Given the description of an element on the screen output the (x, y) to click on. 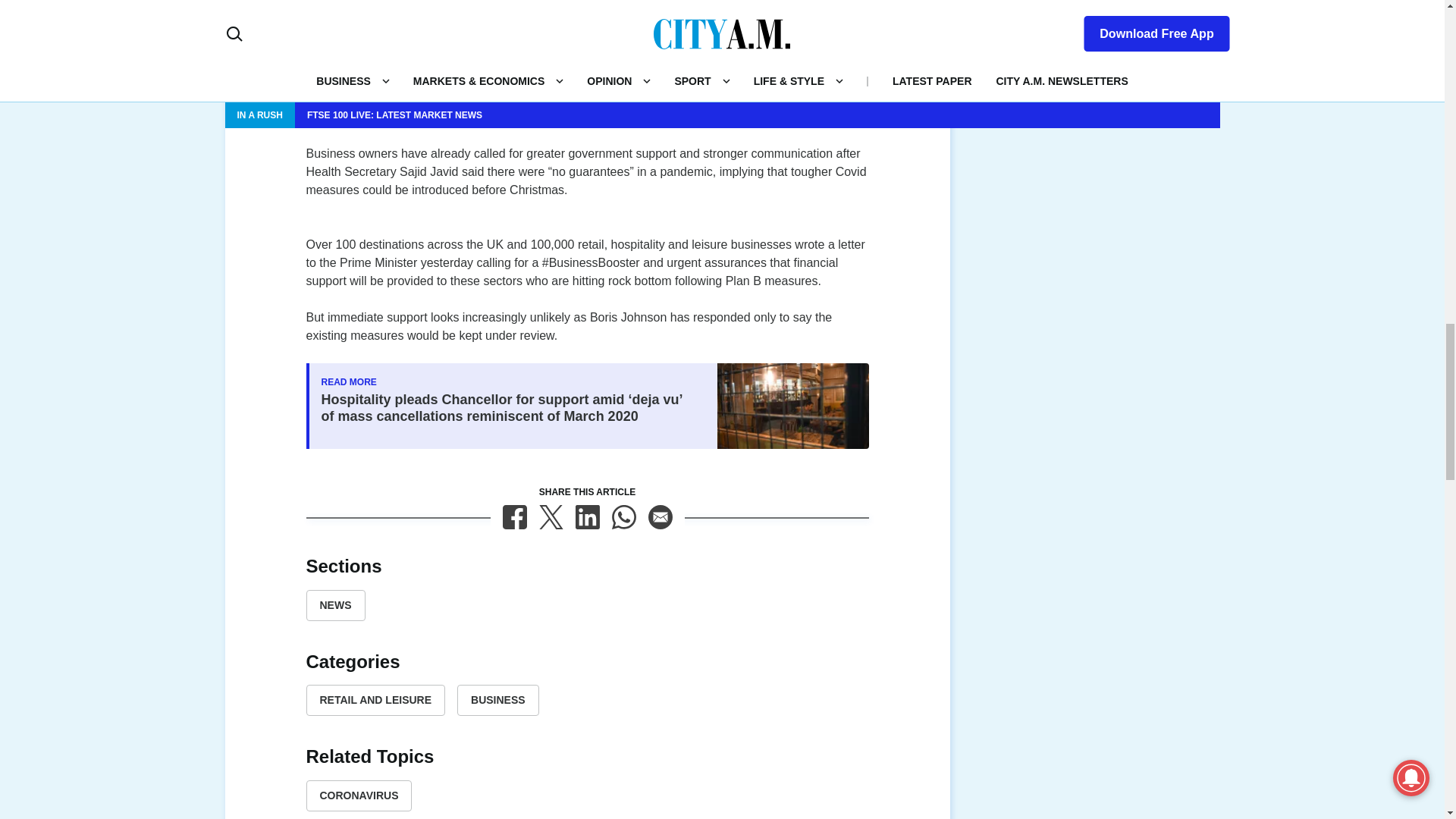
X (550, 517)
Facebook (513, 517)
Email (659, 517)
LinkedIn (586, 517)
WhatsApp (622, 517)
